Given the description of an element on the screen output the (x, y) to click on. 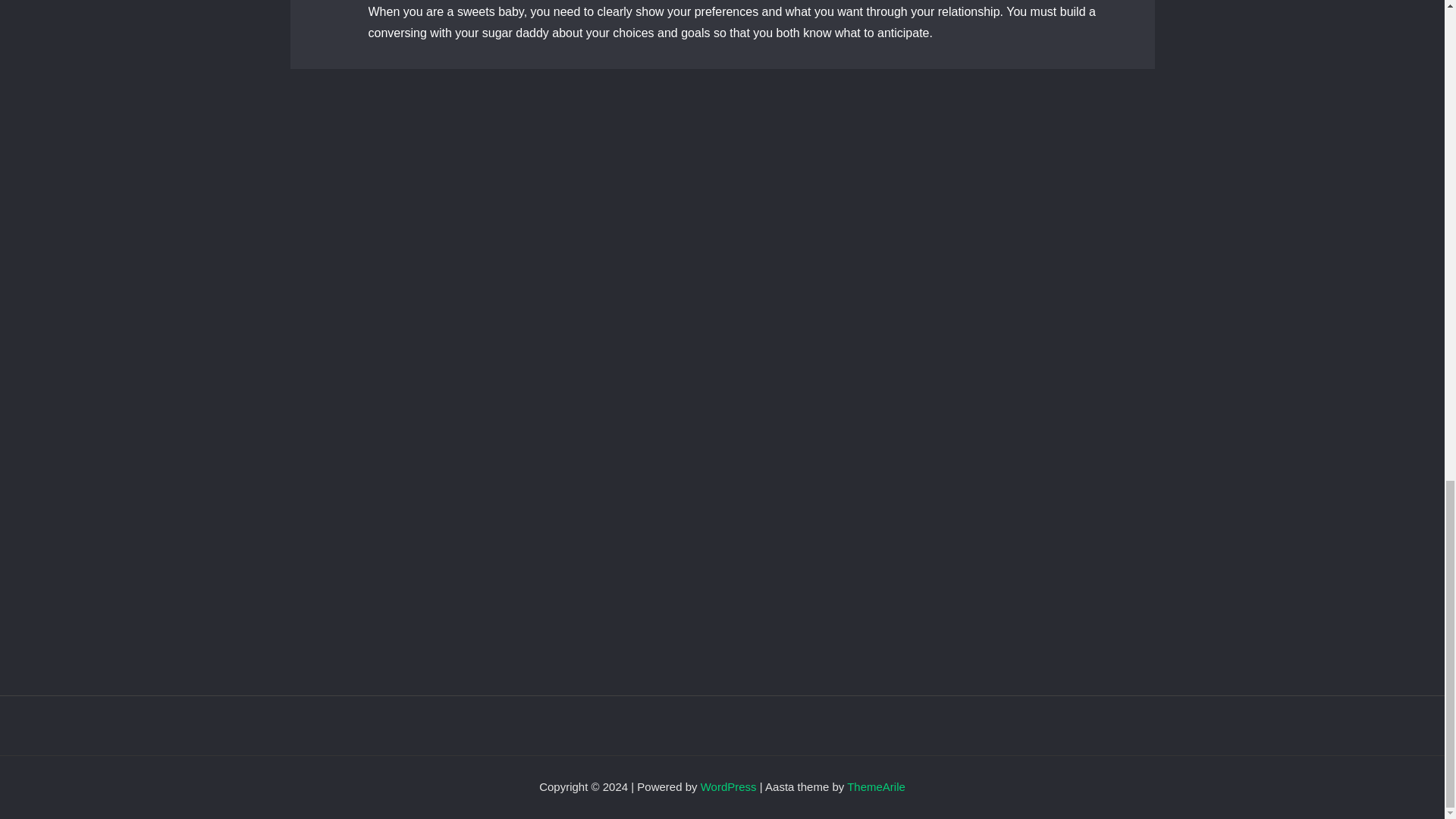
Submit (363, 582)
ThemeArile (876, 786)
WordPress (728, 786)
